Given the description of an element on the screen output the (x, y) to click on. 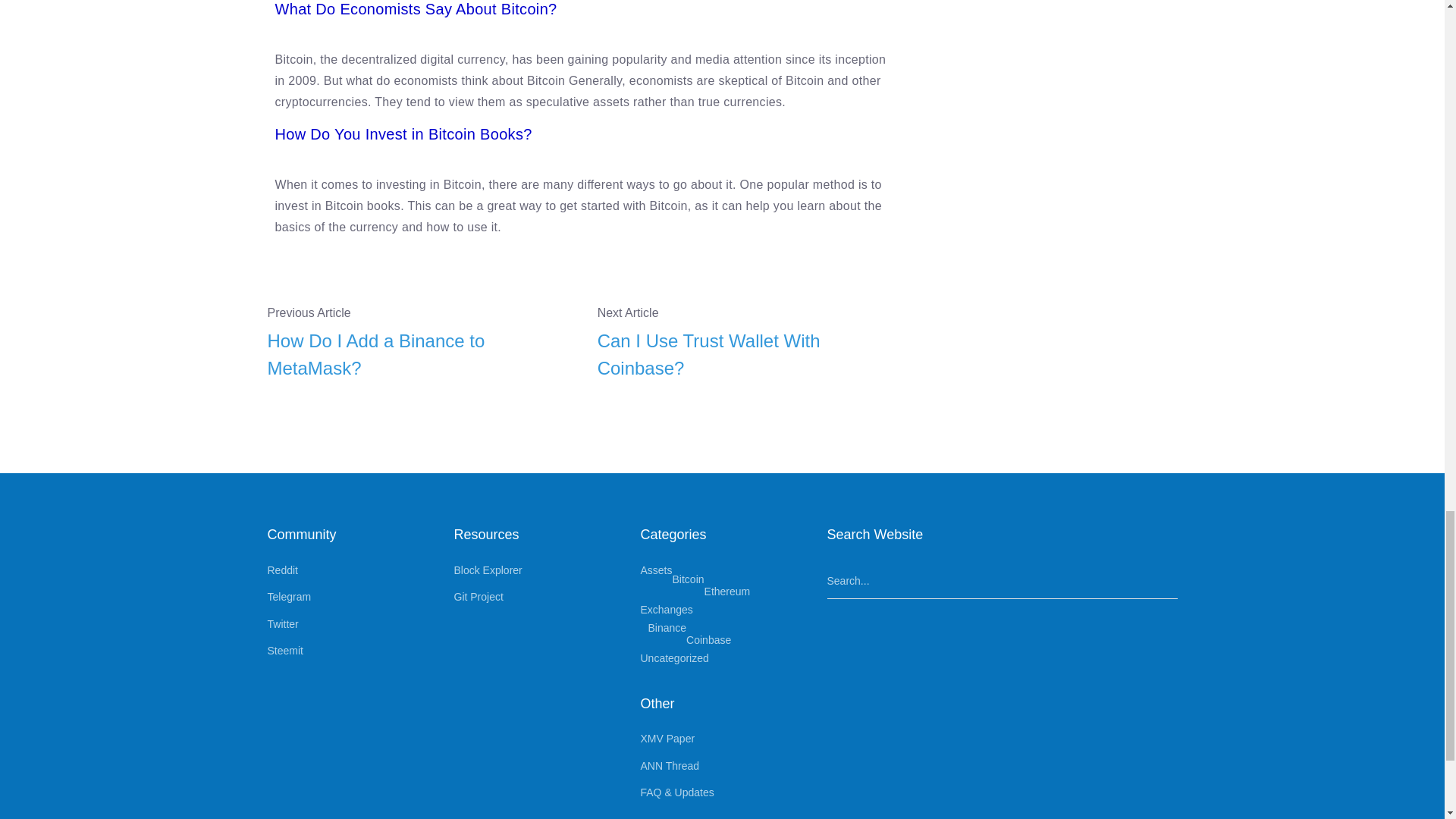
Can I Use Trust Wallet With Coinbase? (750, 354)
Search... (1001, 580)
Twitter (282, 623)
Reddit (281, 570)
What Do Economists Say About Bitcoin? (415, 8)
How Do I Add a Binance to MetaMask? (419, 354)
Telegram (288, 596)
How Do You Invest in Bitcoin Books? (403, 134)
Search... (1001, 580)
